Given the description of an element on the screen output the (x, y) to click on. 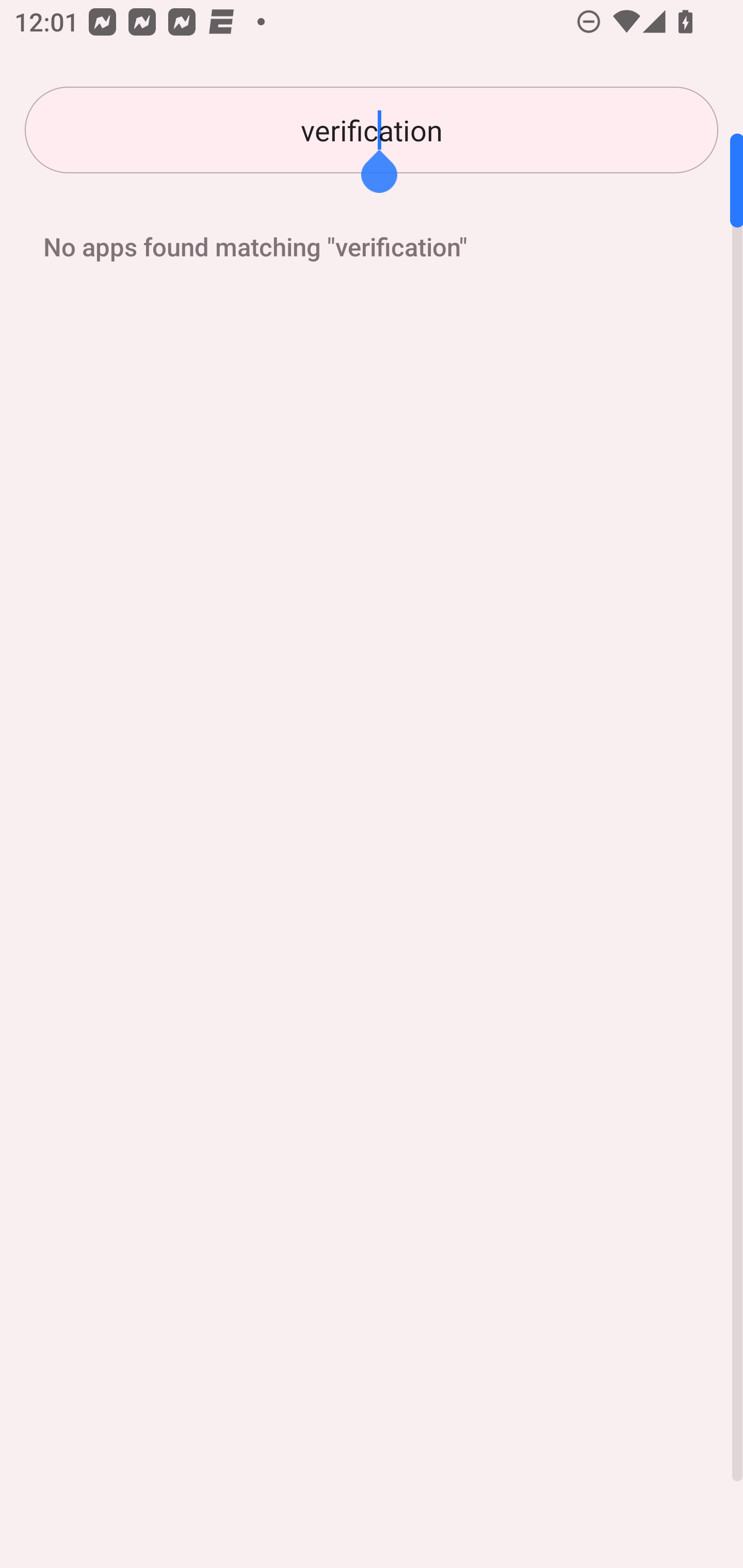
verification (371, 130)
